Given the description of an element on the screen output the (x, y) to click on. 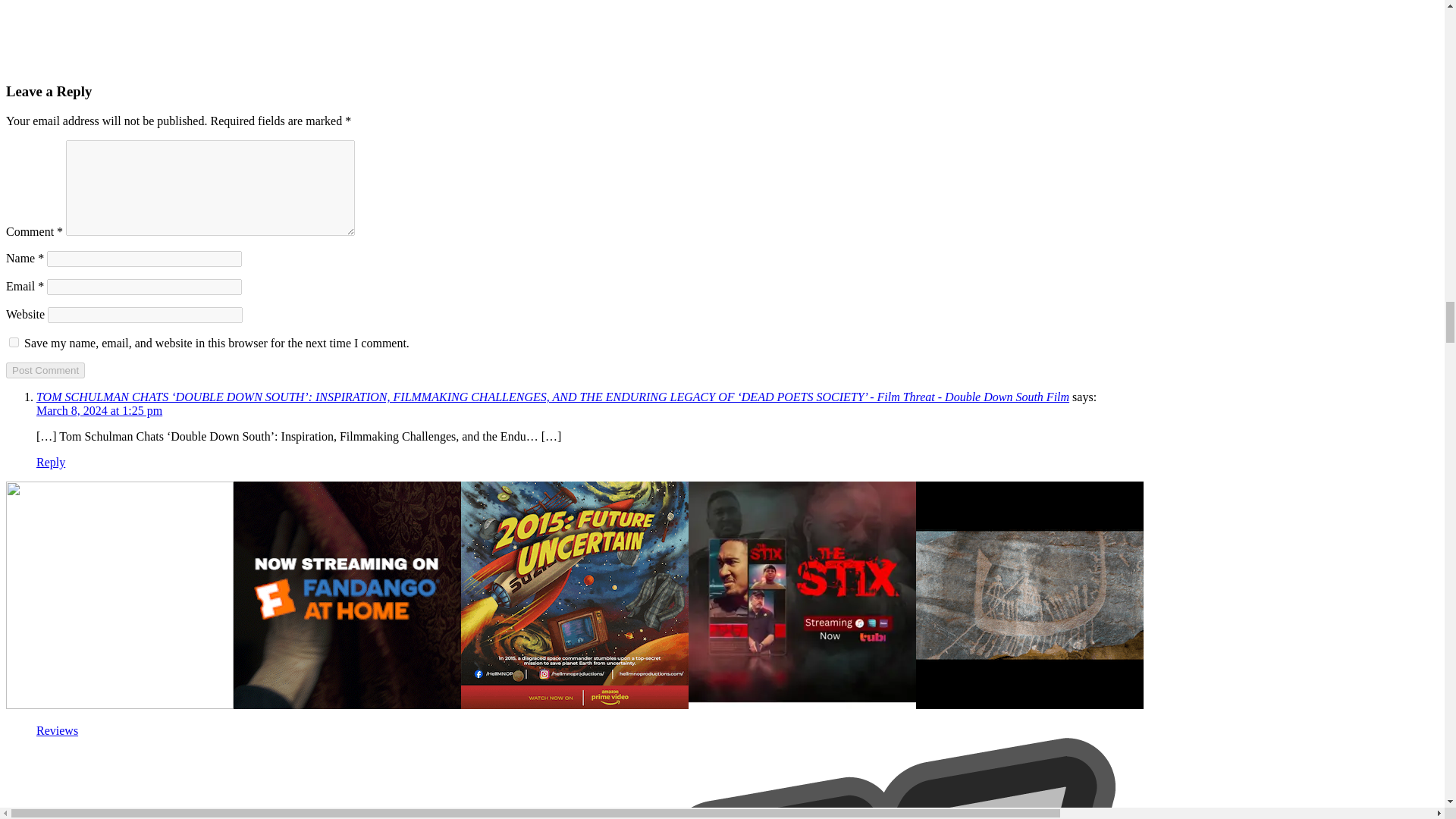
Post Comment (44, 370)
Reviews (57, 730)
yes (13, 342)
March 8, 2024 at 1:25 pm (98, 410)
Reply (50, 461)
Post Comment (44, 370)
